Given the description of an element on the screen output the (x, y) to click on. 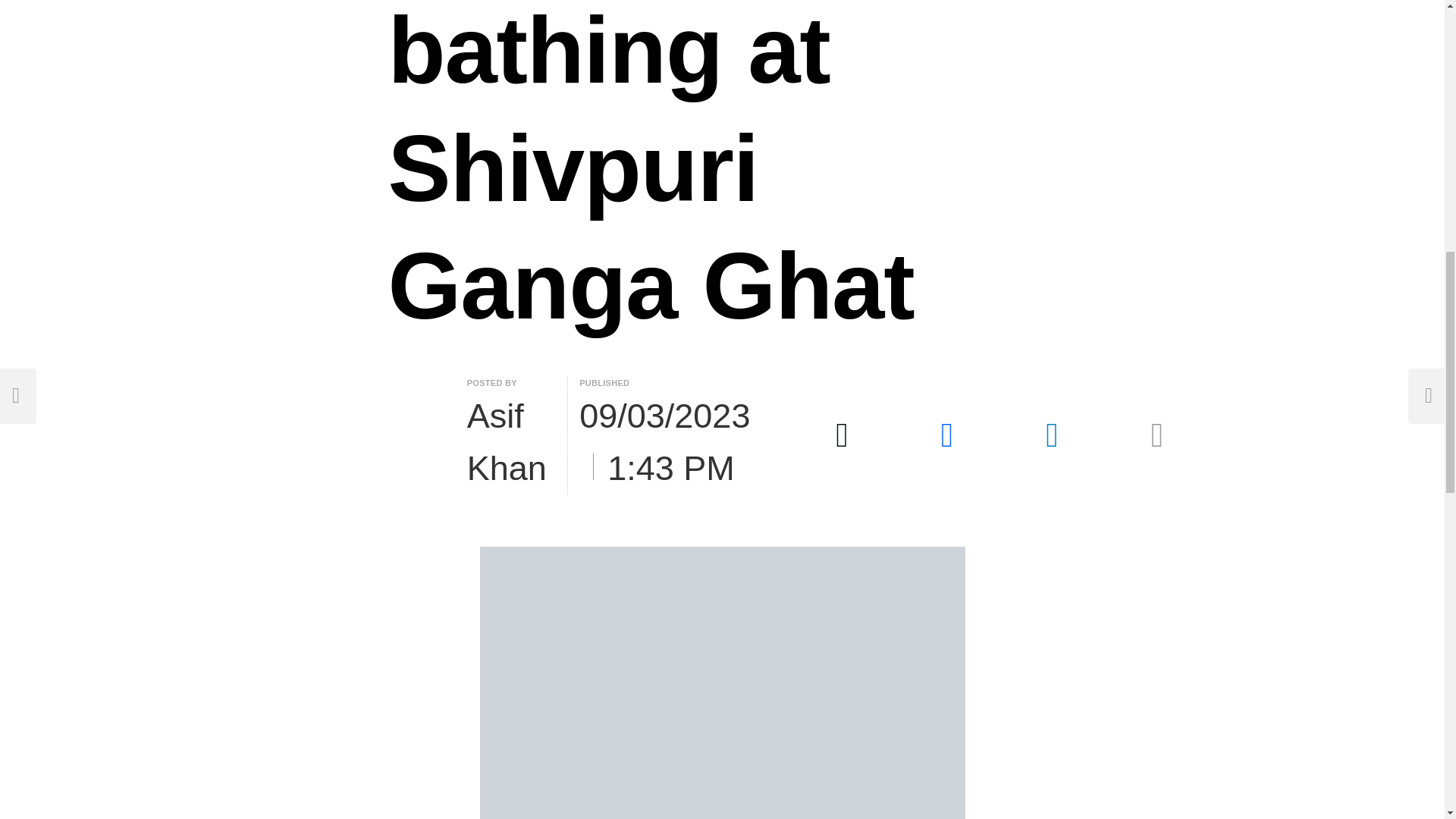
Share on LinkedIn (1052, 435)
Share on facebook (947, 435)
Share this post (1156, 435)
